Given the description of an element on the screen output the (x, y) to click on. 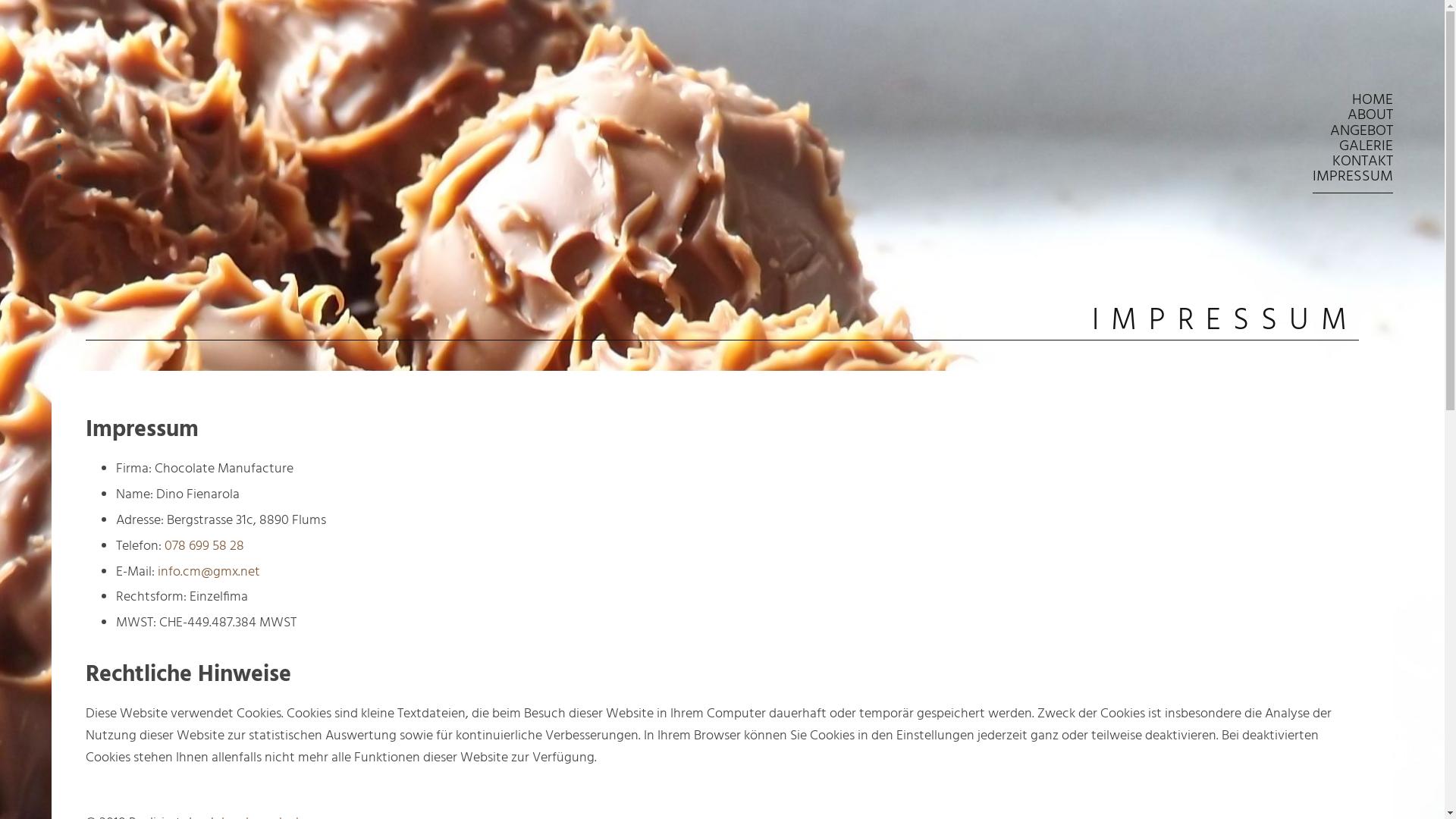
ABOUT Element type: text (1370, 115)
IMPRESSUM Element type: text (1352, 176)
info.cm@gmx.net Element type: text (208, 572)
ANGEBOT Element type: text (1361, 131)
HOME Element type: text (1372, 100)
078 699 58 28 Element type: text (204, 546)
KONTAKT Element type: text (1362, 161)
GALERIE Element type: text (1366, 146)
